Given the description of an element on the screen output the (x, y) to click on. 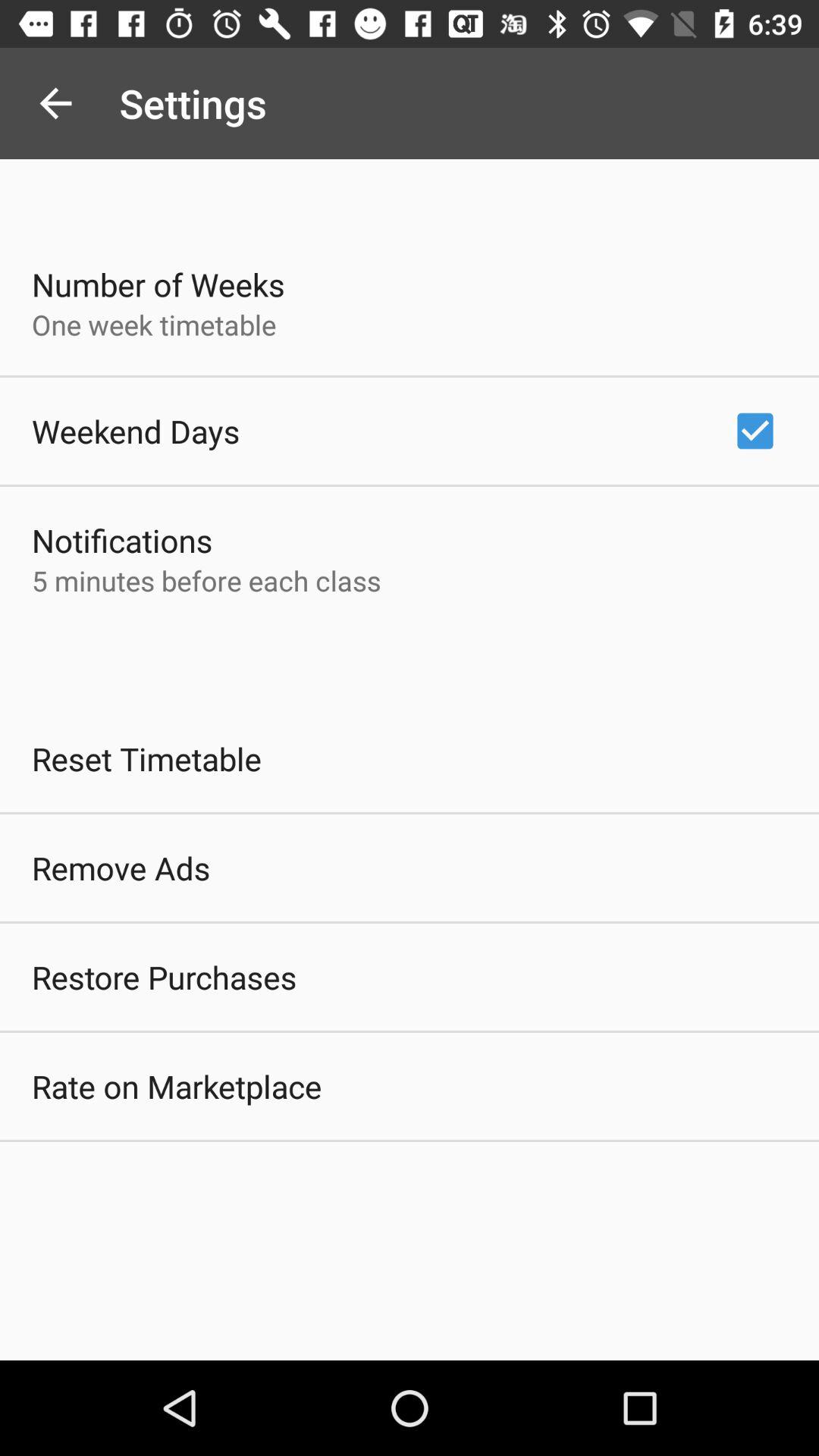
open reset timetable item (146, 758)
